Given the description of an element on the screen output the (x, y) to click on. 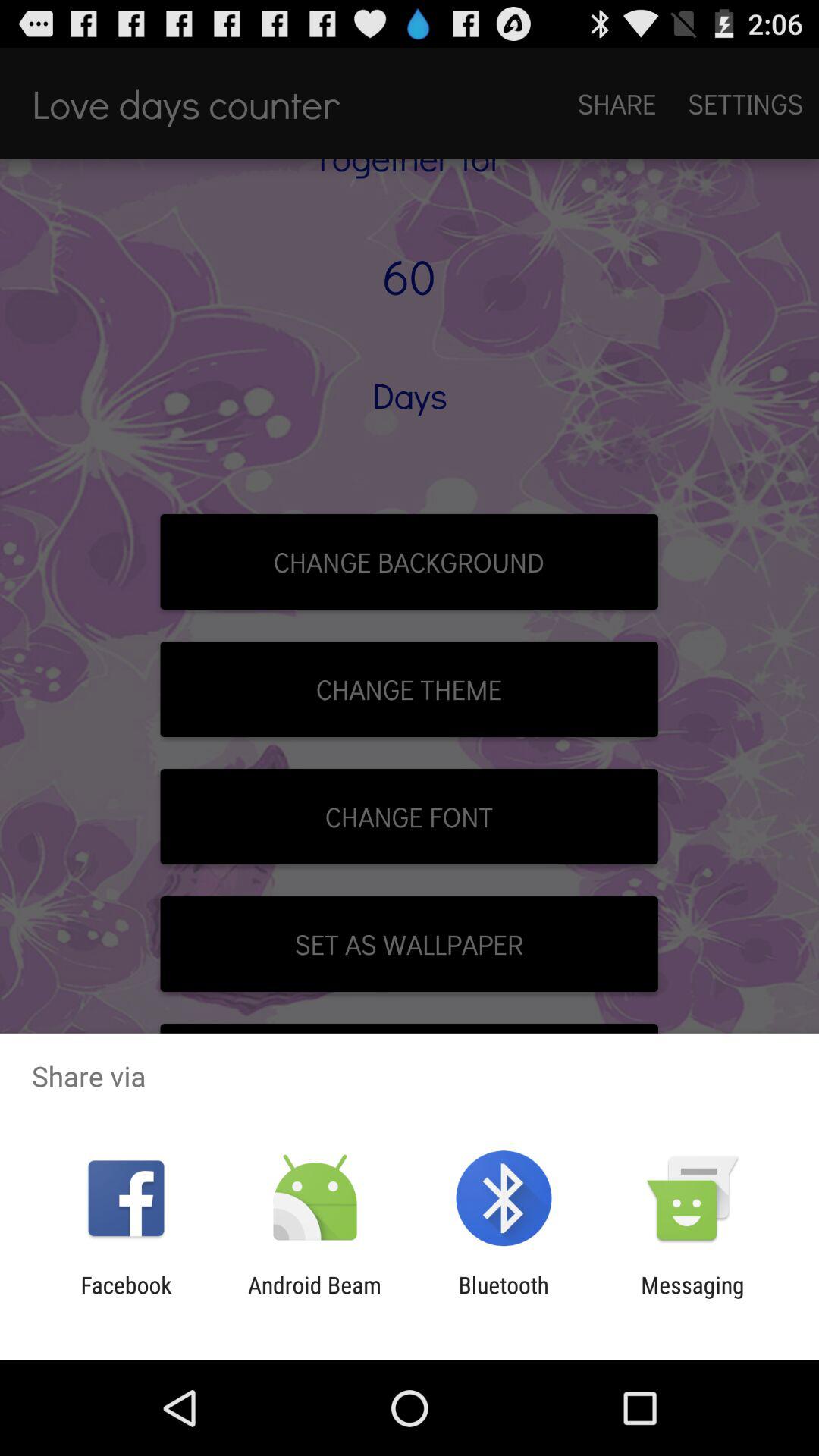
choose android beam app (314, 1298)
